Given the description of an element on the screen output the (x, y) to click on. 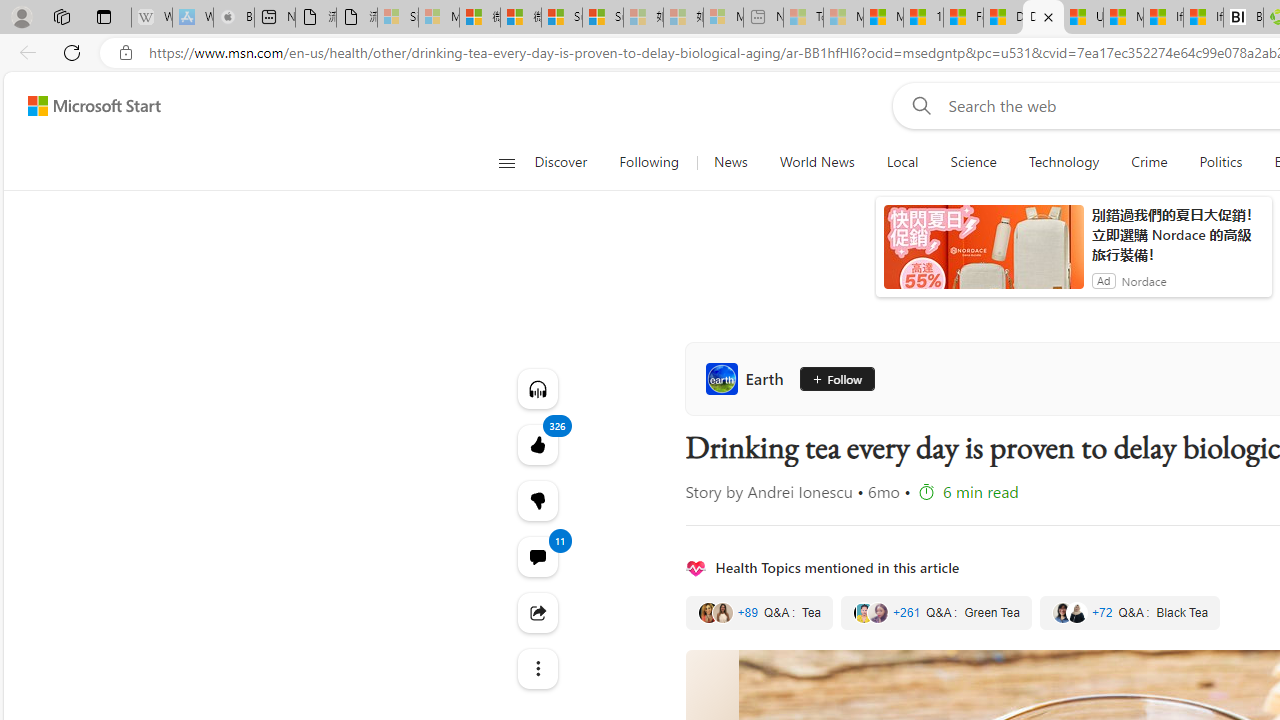
Microsoft Start (1123, 17)
Crime (1149, 162)
Drinking tea every day is proven to delay biological aging (1043, 17)
Black Tea (1130, 613)
Back (24, 52)
Politics (1220, 162)
anim-content (983, 255)
Listen to this article (537, 388)
Following (648, 162)
World News (817, 162)
326 Like (537, 444)
View site information (125, 53)
Dislike (537, 500)
Microsoft Services Agreement - Sleeping (438, 17)
